Given the description of an element on the screen output the (x, y) to click on. 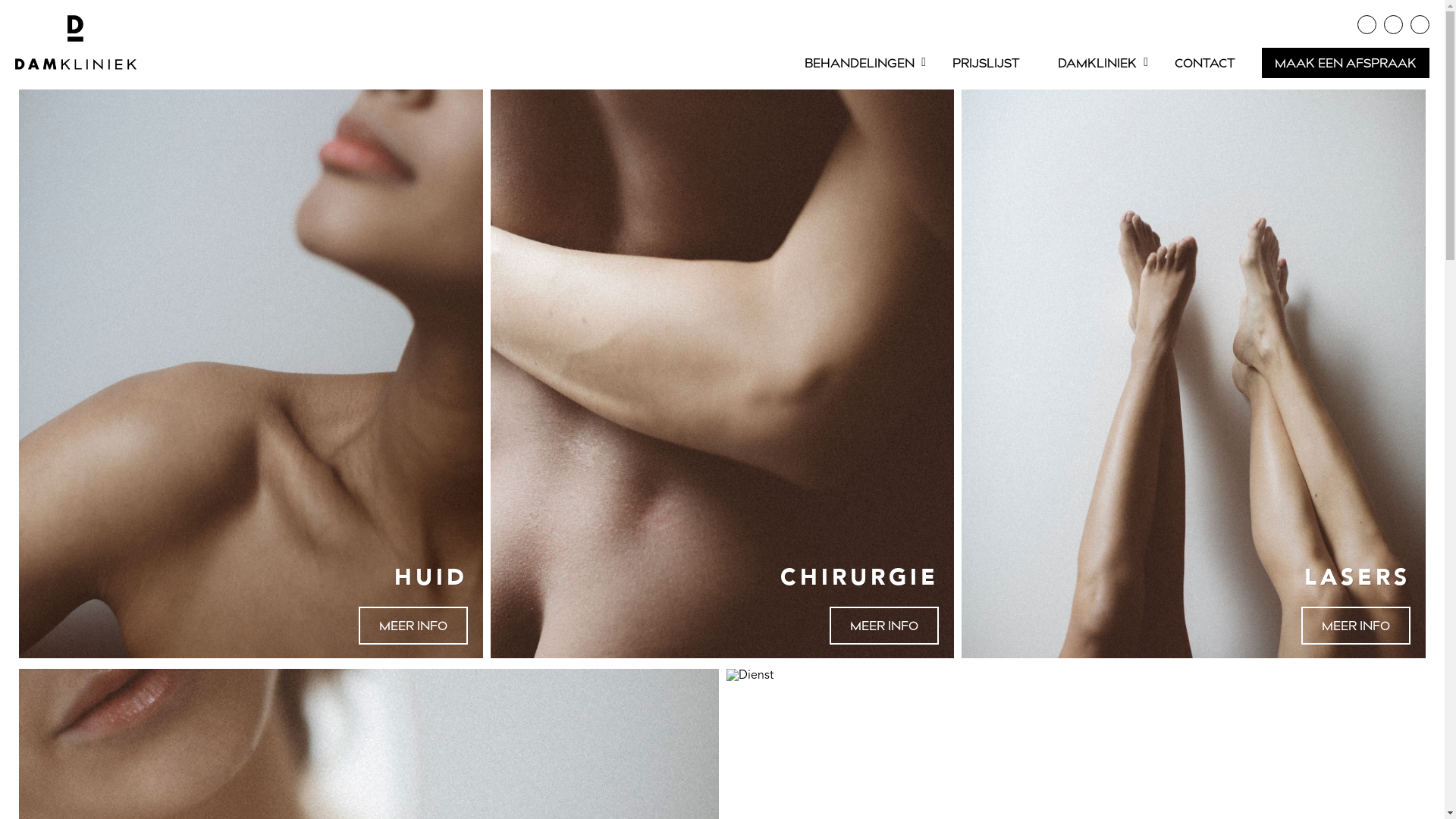
BEHANDELINGEN Element type: text (859, 62)
PRIJSLIJST Element type: text (986, 62)
DAMKLINIEK Element type: text (1097, 62)
MEER INFO Element type: text (412, 625)
MAAK EEN AFSPRAAK Element type: text (1345, 62)
CONTACT Element type: text (1204, 62)
MEER INFO Element type: text (1355, 625)
MEER INFO Element type: text (883, 625)
